Given the description of an element on the screen output the (x, y) to click on. 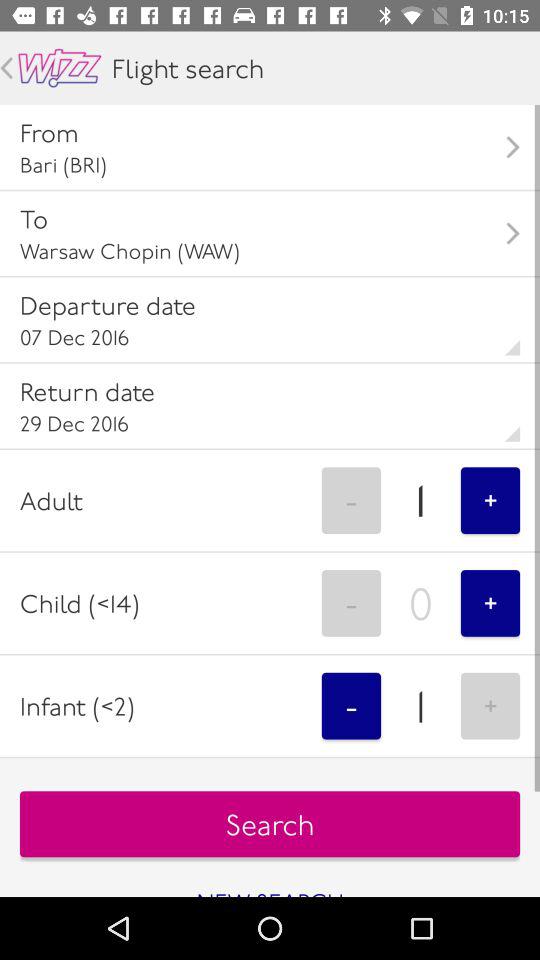
go to home (59, 68)
